Given the description of an element on the screen output the (x, y) to click on. 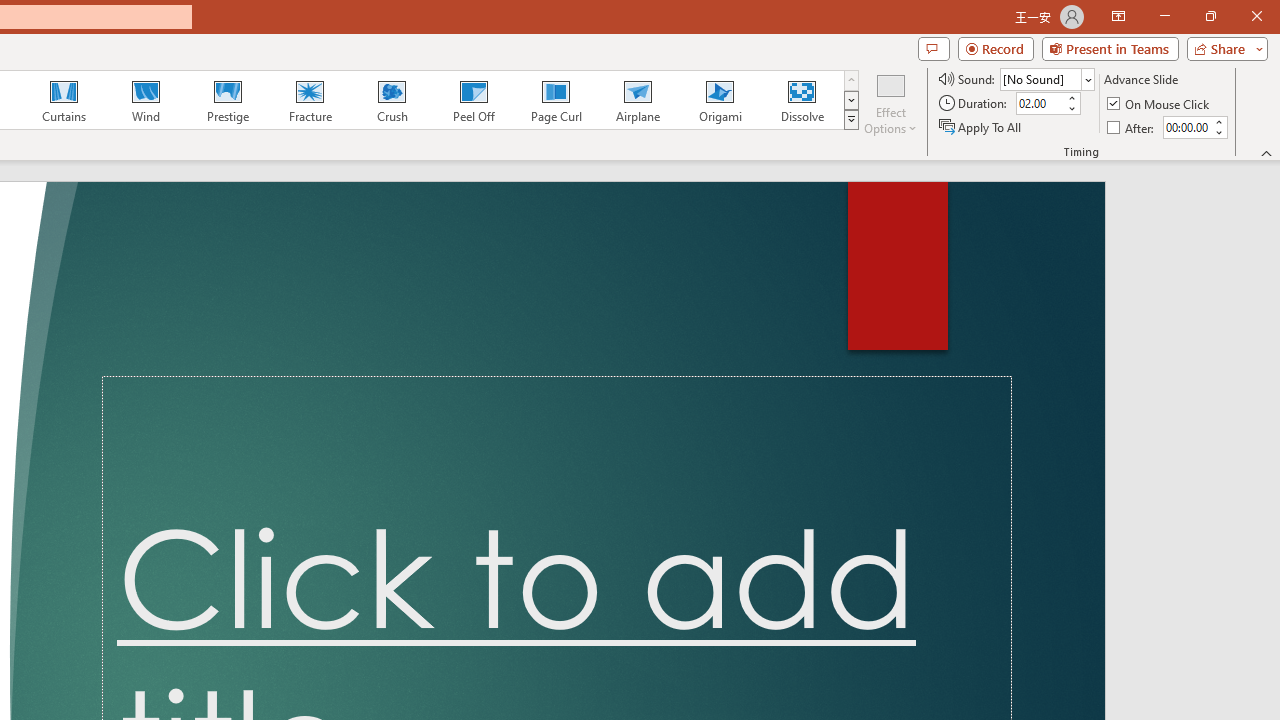
After (1131, 126)
Airplane (637, 100)
Dissolve (802, 100)
Origami (719, 100)
Wind (145, 100)
After (1186, 127)
Fracture (309, 100)
Peel Off (473, 100)
Curtains (63, 100)
Crush (391, 100)
